Given the description of an element on the screen output the (x, y) to click on. 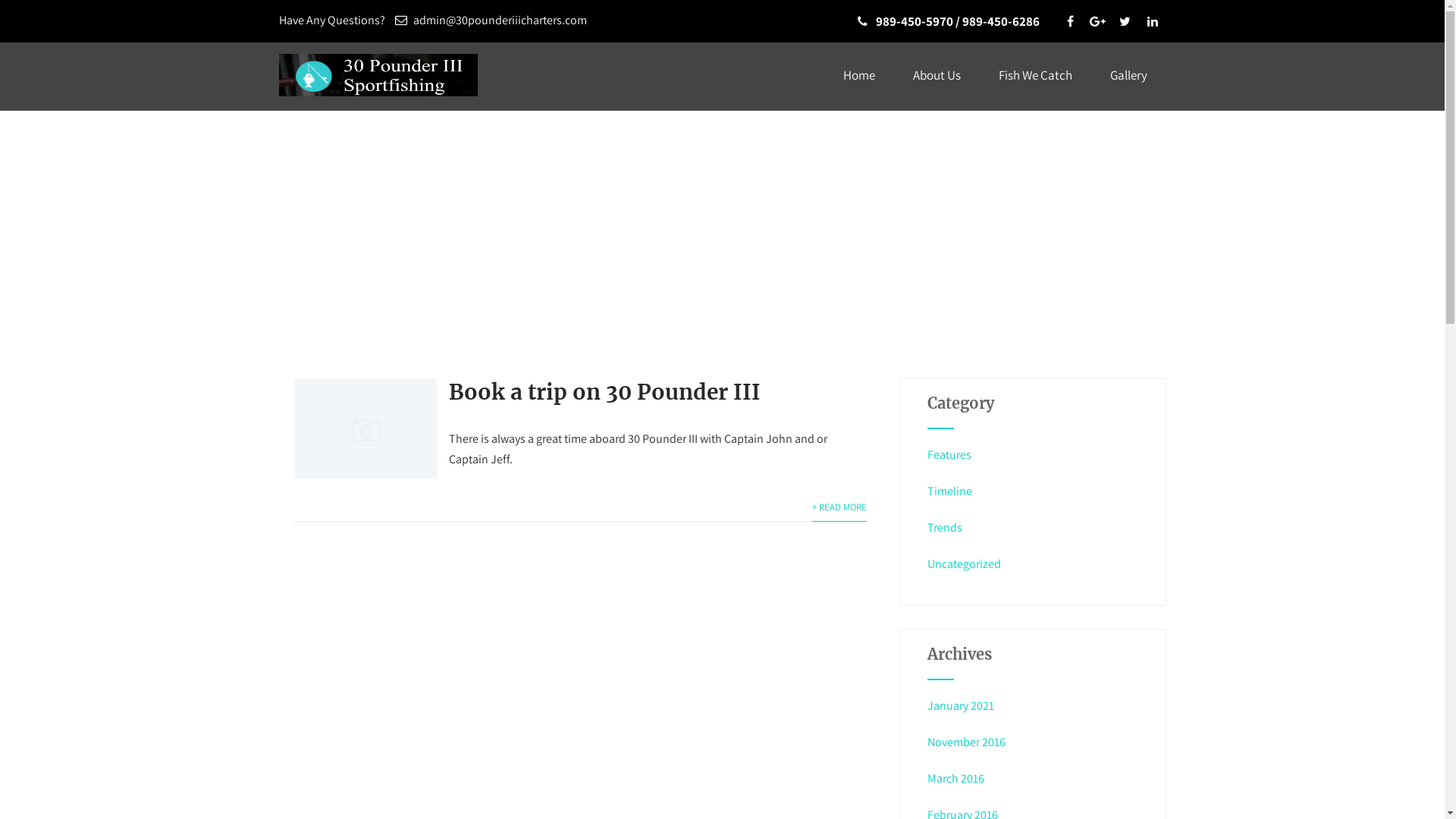
Home Element type: text (858, 75)
twitter Element type: hover (1124, 20)
Features Element type: text (949, 454)
facebook Element type: hover (1069, 20)
Uncategorized Element type: text (964, 563)
March 2016 Element type: text (955, 778)
November 2016 Element type: text (966, 741)
30 Pounder III Charters Element type: hover (378, 99)
Book a trip on 30 Pounder III Element type: text (604, 391)
About Us Element type: text (936, 75)
Fish We Catch Element type: text (1035, 75)
January 2021 Element type: text (960, 705)
Timeline Element type: text (949, 490)
Trends Element type: text (944, 527)
linkedin Element type: hover (1151, 20)
Gallery Element type: text (1127, 75)
+ READ MORE Element type: text (839, 506)
google-plus Element type: hover (1096, 20)
